Given the description of an element on the screen output the (x, y) to click on. 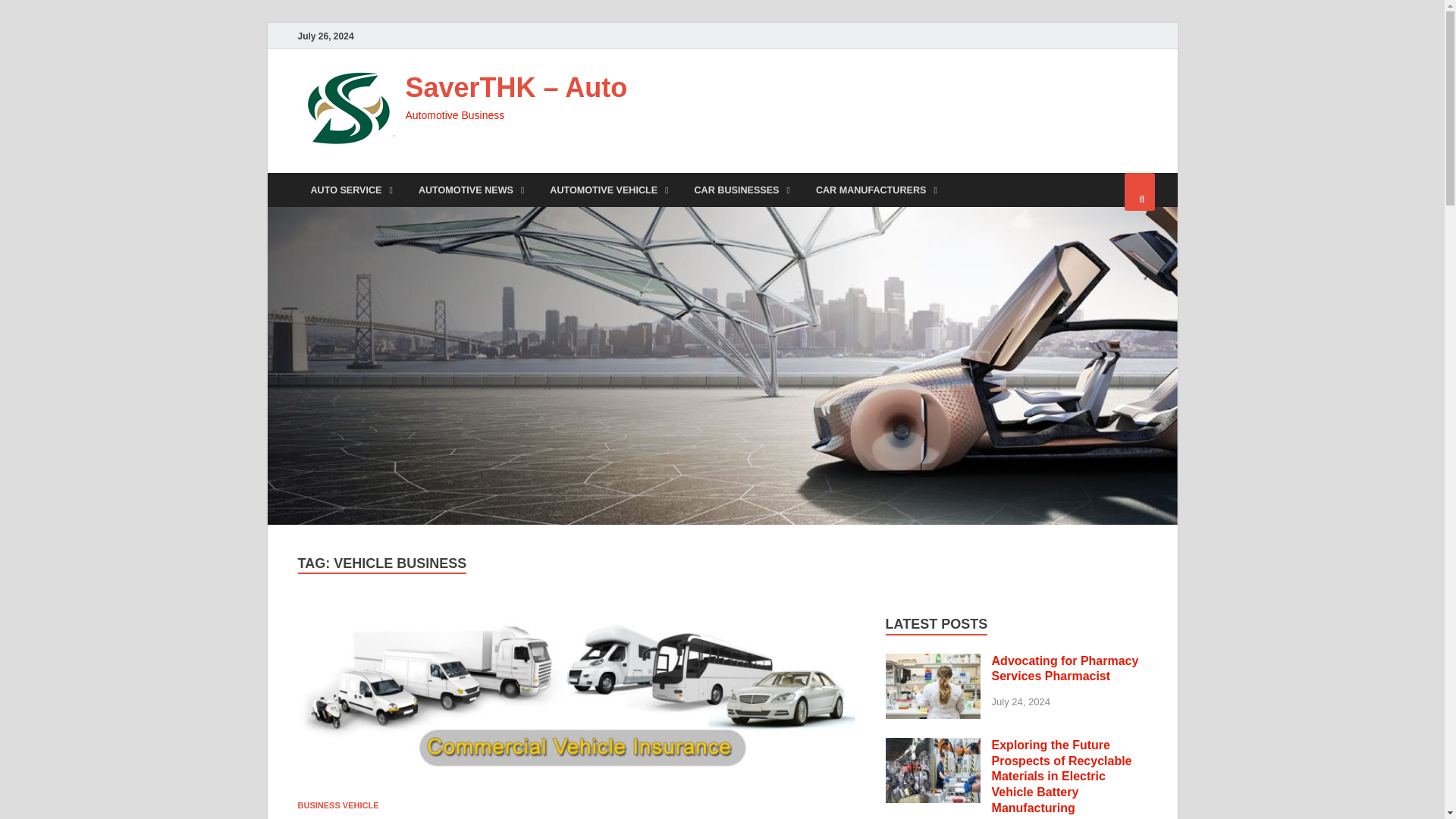
Business Vehicle Insurance (575, 702)
CAR MANUFACTURERS (876, 189)
AUTOMOTIVE VEHICLE (609, 189)
AUTO SERVICE (350, 189)
Advocating for Pharmacy Services Pharmacist (932, 662)
CAR BUSINESSES (742, 189)
AUTOMOTIVE NEWS (471, 189)
